Given the description of an element on the screen output the (x, y) to click on. 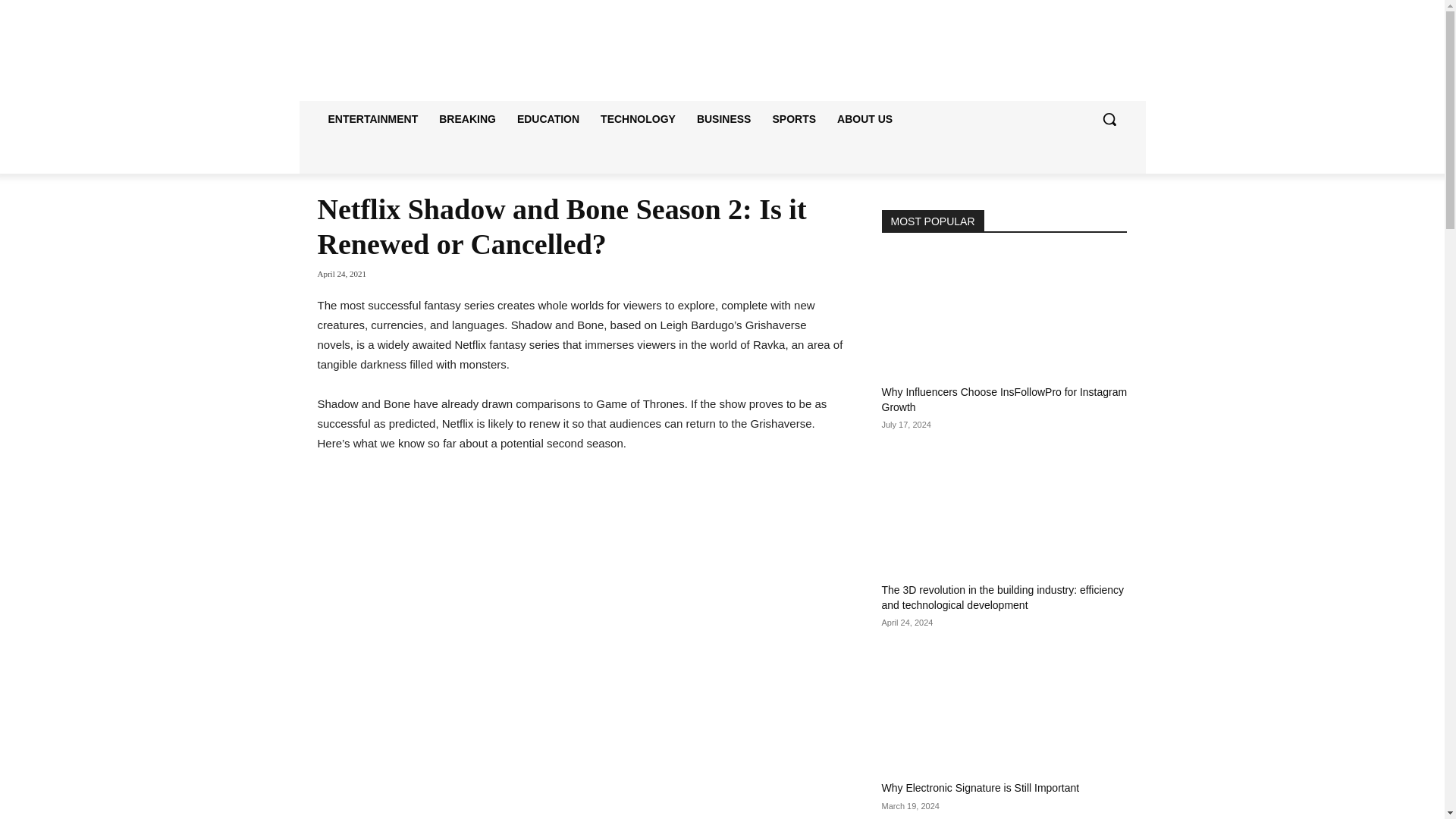
TECHNOLOGY (637, 118)
ABOUT US (864, 118)
BUSINESS (723, 118)
EDUCATION (547, 118)
BREAKING (467, 118)
ENTERTAINMENT (372, 118)
Why Influencers Choose InsFollowPro for Instagram Growth (1003, 399)
